Given the description of an element on the screen output the (x, y) to click on. 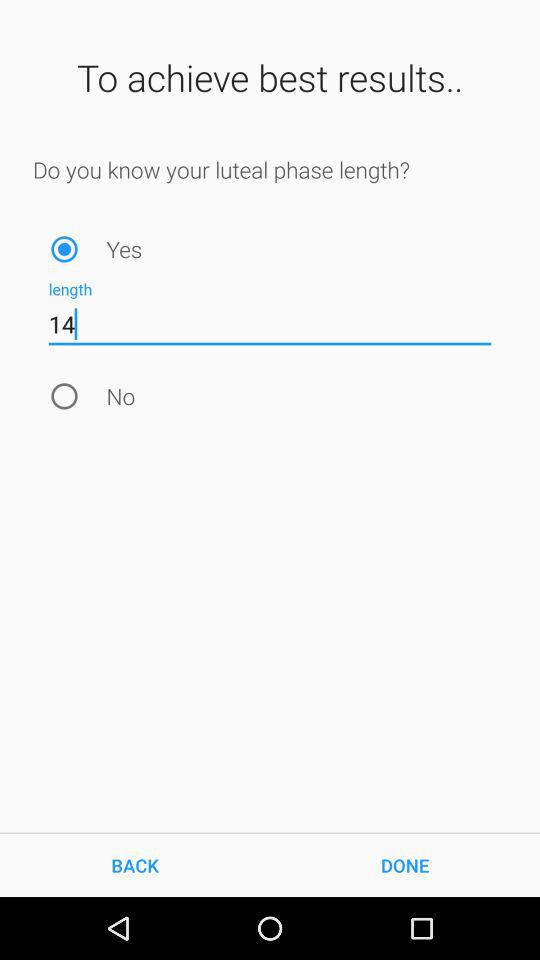
select no (64, 395)
